Given the description of an element on the screen output the (x, y) to click on. 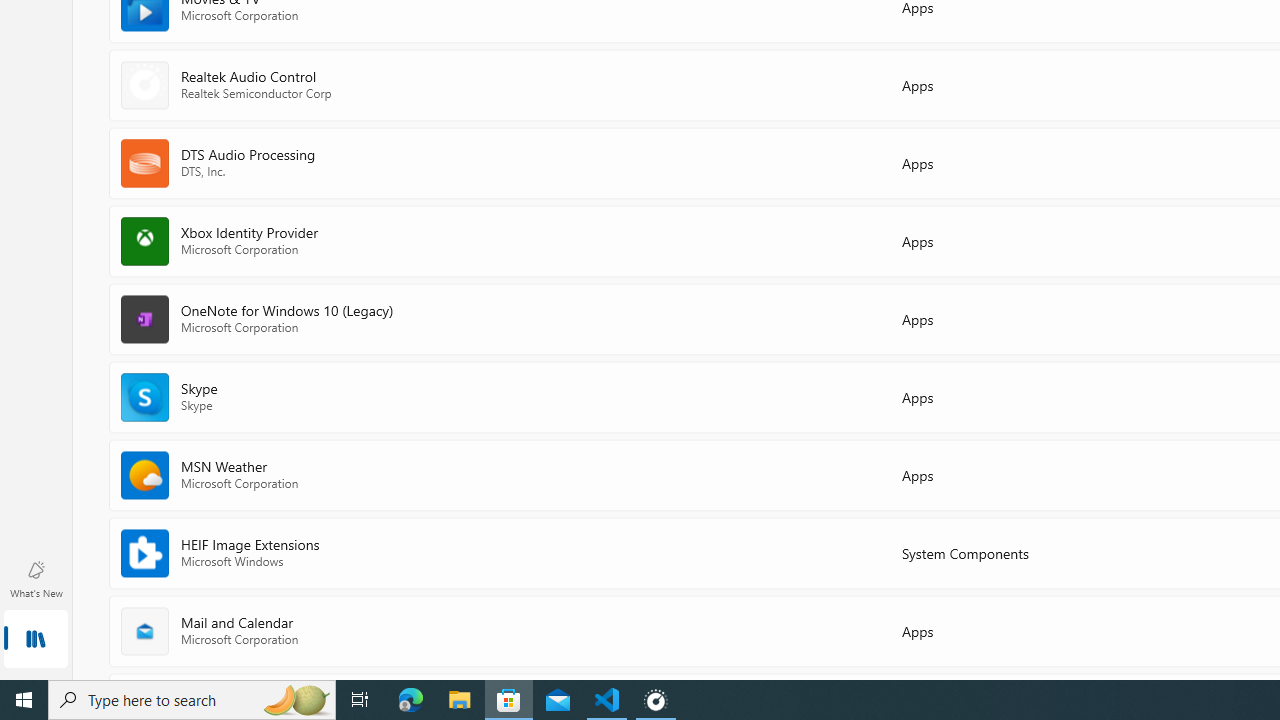
Library (35, 640)
What's New (35, 578)
